Given the description of an element on the screen output the (x, y) to click on. 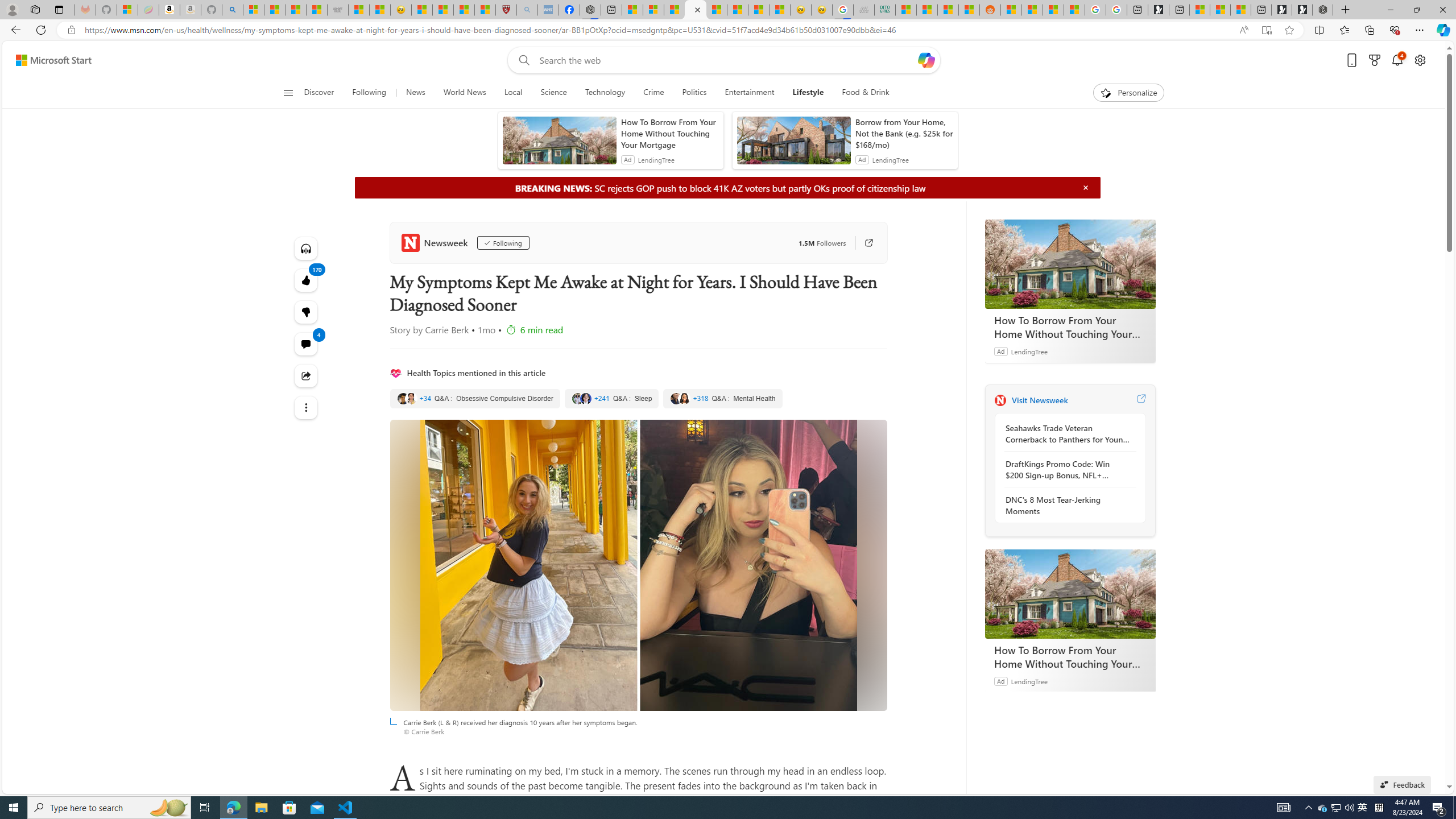
170 Like (305, 279)
Class: at-item (305, 407)
